Given the description of an element on the screen output the (x, y) to click on. 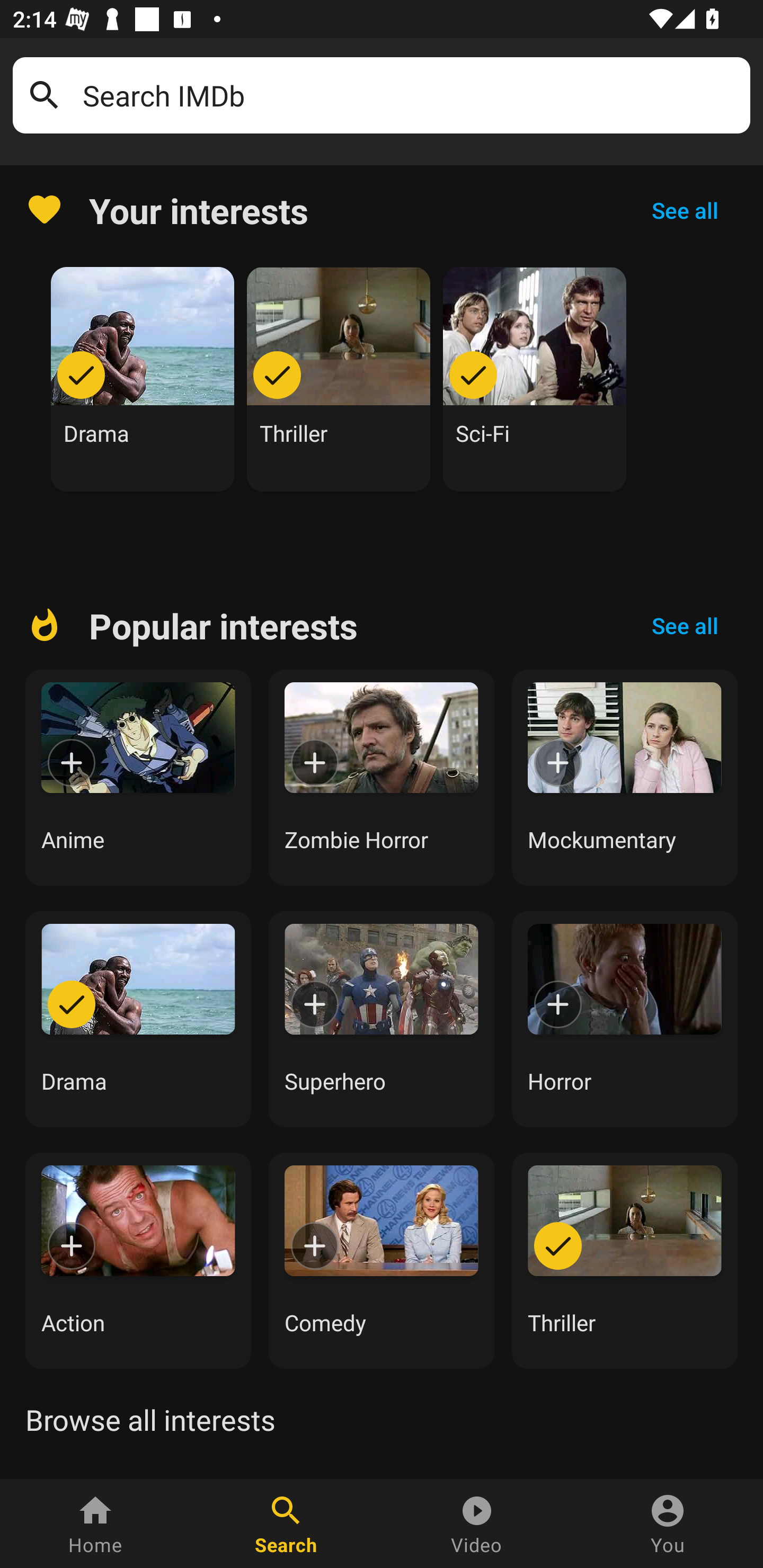
Search IMDb (410, 95)
See all (684, 209)
Drama (142, 379)
Thriller (338, 379)
Sci-Fi (534, 379)
See all (684, 625)
Anime (138, 777)
Zombie Horror (381, 777)
Mockumentary (624, 777)
Drama (138, 1018)
Superhero (381, 1018)
Horror (624, 1018)
Action (138, 1260)
Comedy (381, 1260)
Thriller (624, 1260)
Browse all interests (150, 1419)
Home (95, 1523)
Video (476, 1523)
You (667, 1523)
